Given the description of an element on the screen output the (x, y) to click on. 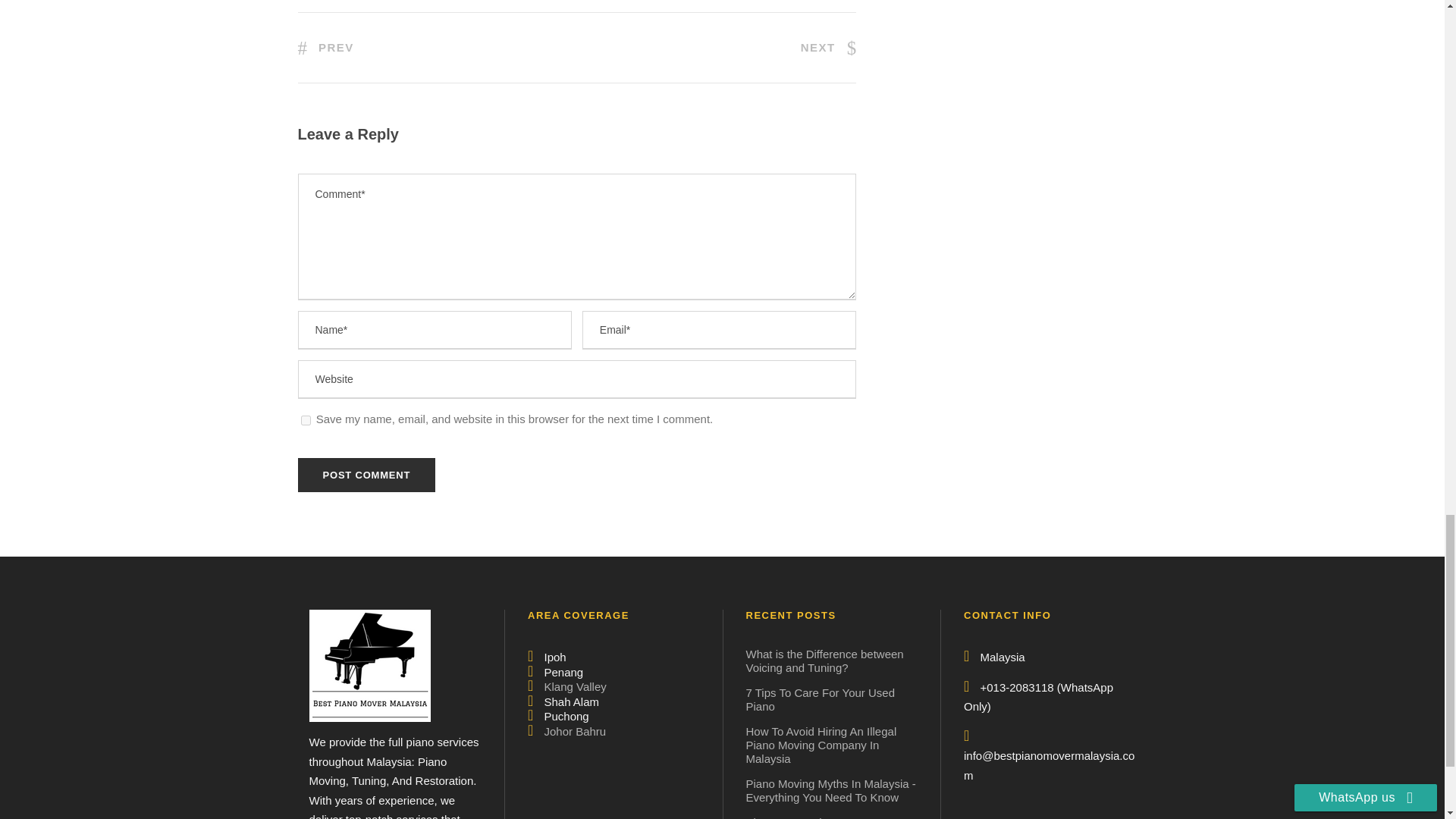
yes (304, 420)
Post Comment (366, 474)
NEXT (828, 47)
PREV (325, 47)
